Given the description of an element on the screen output the (x, y) to click on. 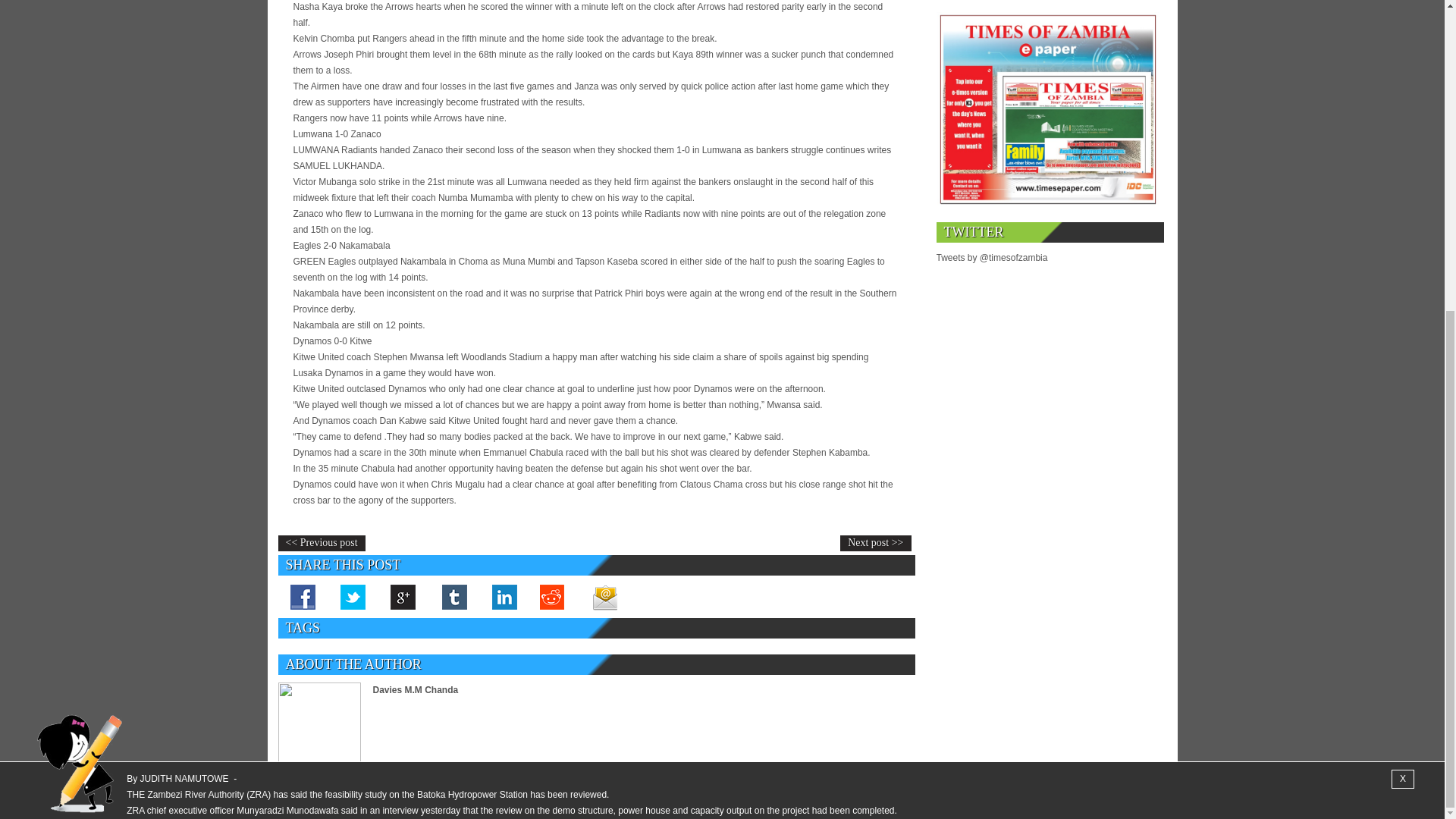
Reddit (553, 596)
Twitter (352, 596)
Tumblr (453, 596)
Facebook (303, 596)
Linkedin (502, 596)
Posts by Davies M.M Chanda (415, 689)
Email (603, 596)
